Given the description of an element on the screen output the (x, y) to click on. 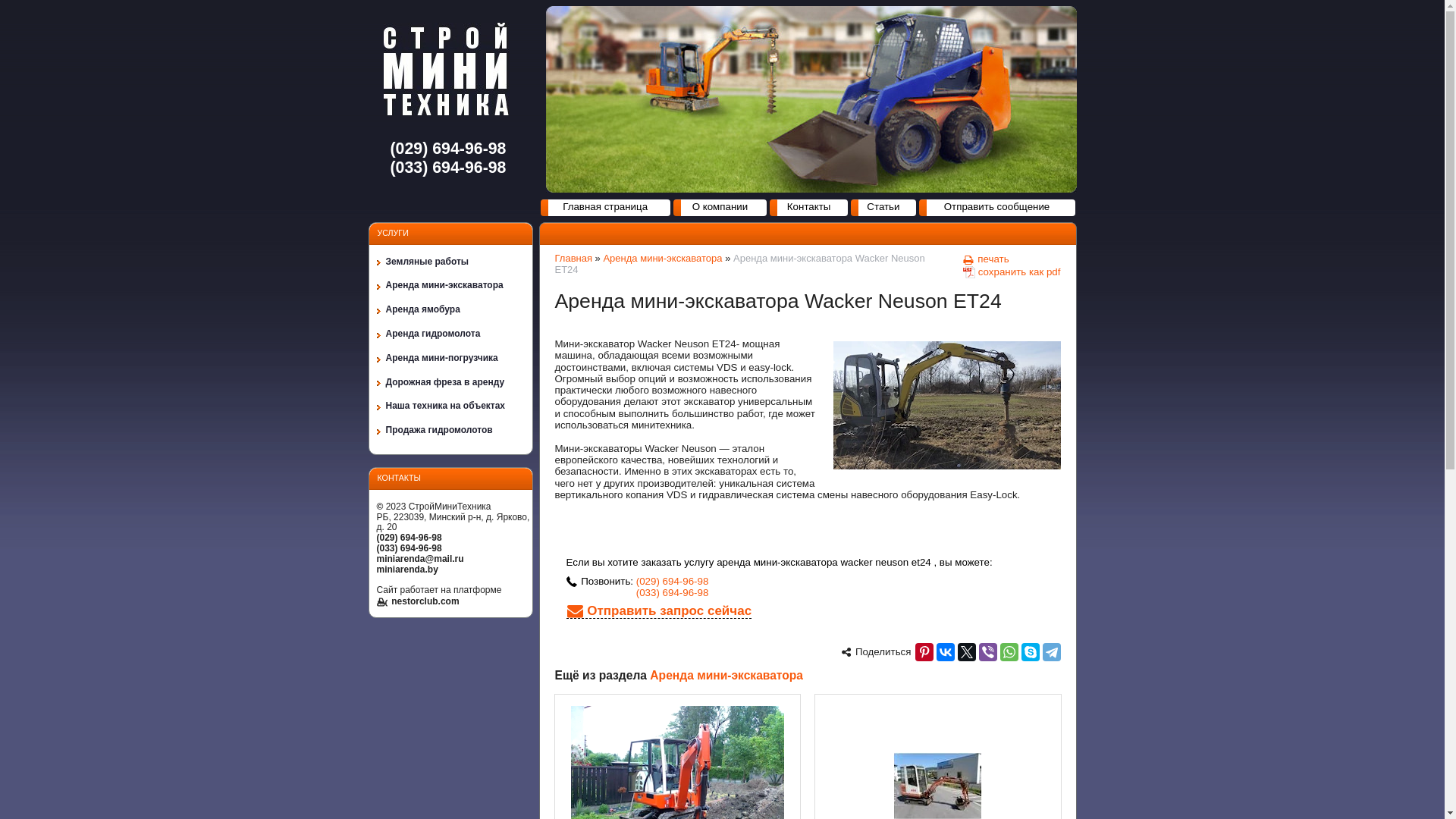
(029) 694-96-98 Element type: text (672, 580)
Twitter Element type: hover (966, 652)
Pinterest Element type: hover (923, 652)
WhatsApp Element type: hover (1008, 652)
miniarenda.by Element type: text (406, 569)
(033) 694-96-98 Element type: text (408, 547)
Telegram Element type: hover (1050, 652)
(029) 694-96-98 Element type: text (408, 537)
Skype Element type: hover (1029, 652)
Viber Element type: hover (987, 652)
(033) 694-96-98 Element type: text (672, 592)
miniarenda@mail.ru Element type: text (419, 558)
nestorclub.com Element type: text (417, 601)
